Given the description of an element on the screen output the (x, y) to click on. 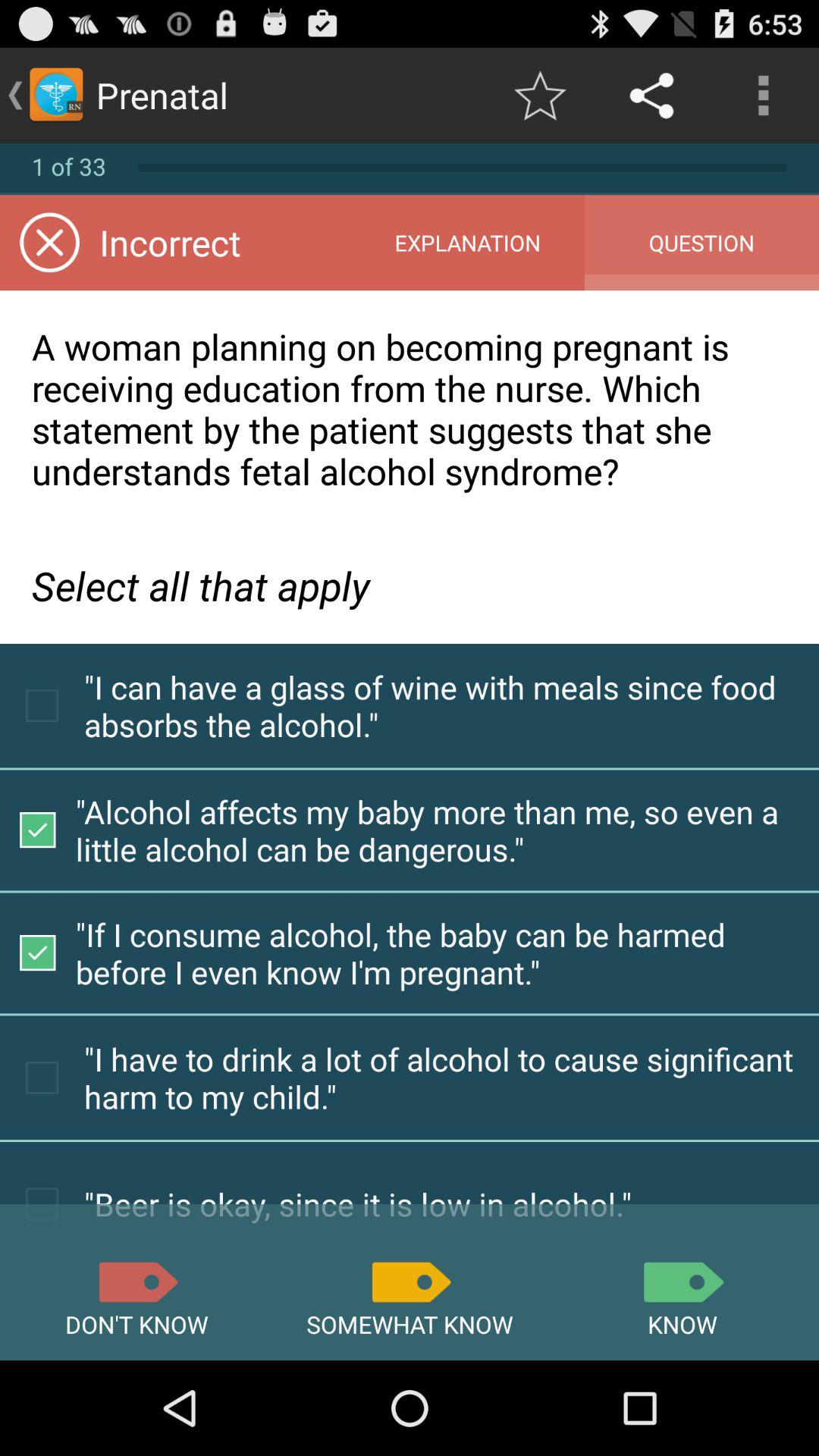
click on know (682, 1282)
click the share icon (651, 95)
